Given the description of an element on the screen output the (x, y) to click on. 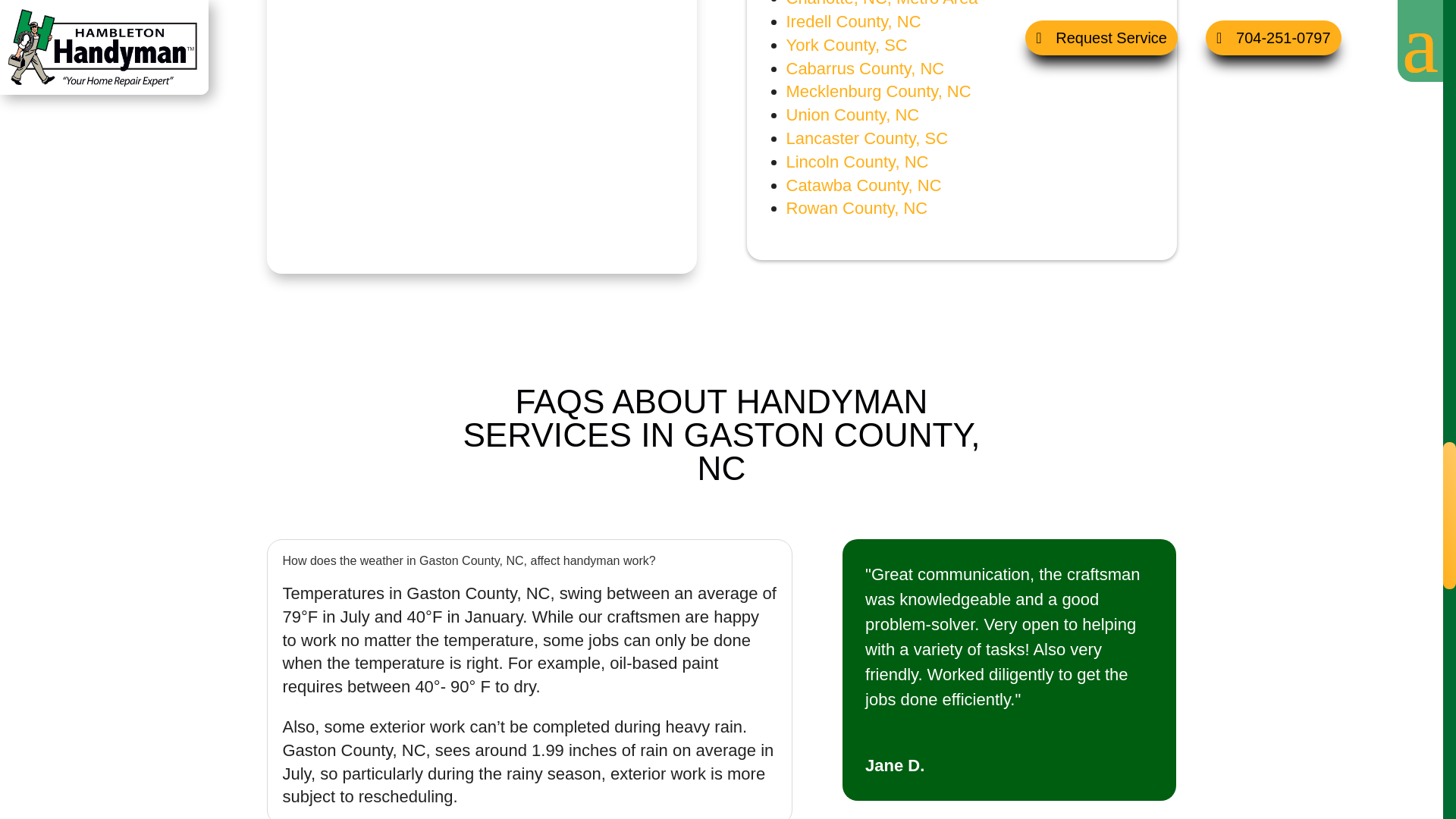
Charlotte, NC, Metro Area (881, 3)
Cabarrus County, NC (864, 67)
Lincoln County, NC (857, 161)
Union County, NC (852, 114)
Lancaster County, SC (866, 138)
York County, SC (846, 45)
Iredell County, NC (853, 21)
Mecklenburg County, NC (878, 90)
Rowan County, NC (856, 208)
Catawba County, NC (863, 185)
